Given the description of an element on the screen output the (x, y) to click on. 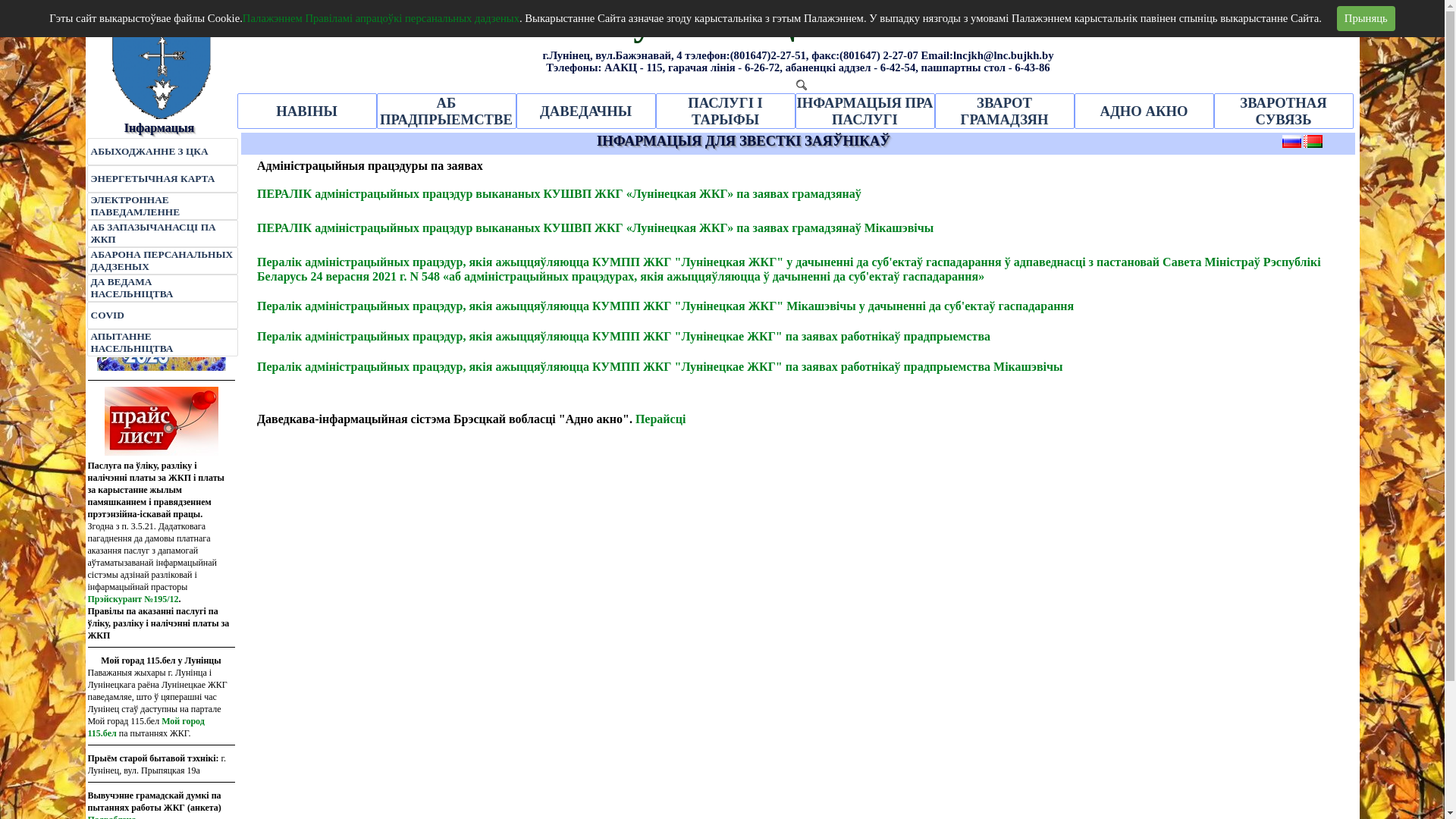
COVID Element type: text (162, 315)
